Given the description of an element on the screen output the (x, y) to click on. 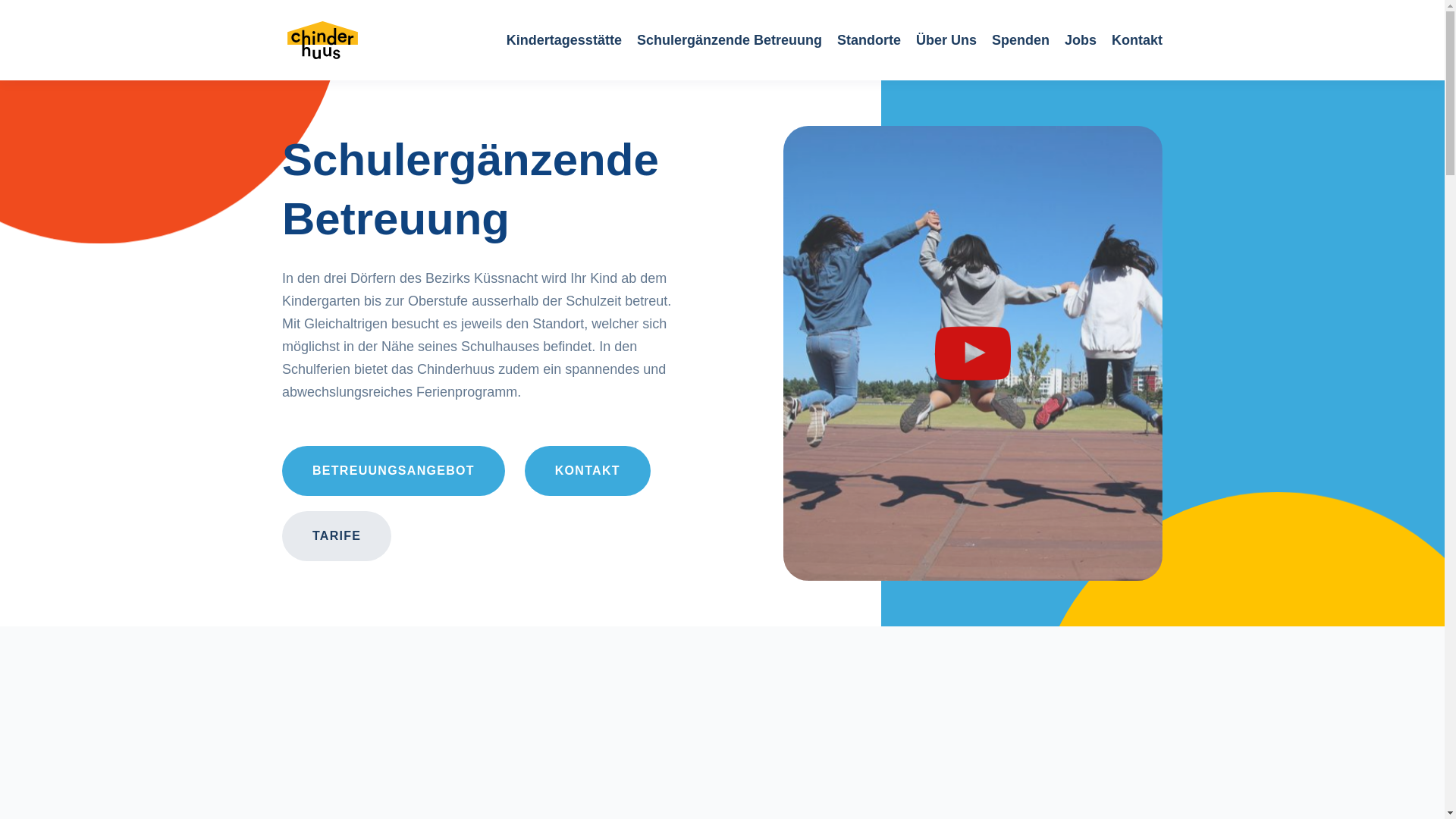
Spenden Element type: text (1020, 39)
TARIFE Element type: text (336, 536)
Jobs Element type: text (1080, 39)
Kontakt Element type: text (1136, 39)
BETREUUNGSANGEBOT Element type: text (393, 470)
KONTAKT Element type: text (587, 470)
Standorte Element type: text (868, 39)
